Given the description of an element on the screen output the (x, y) to click on. 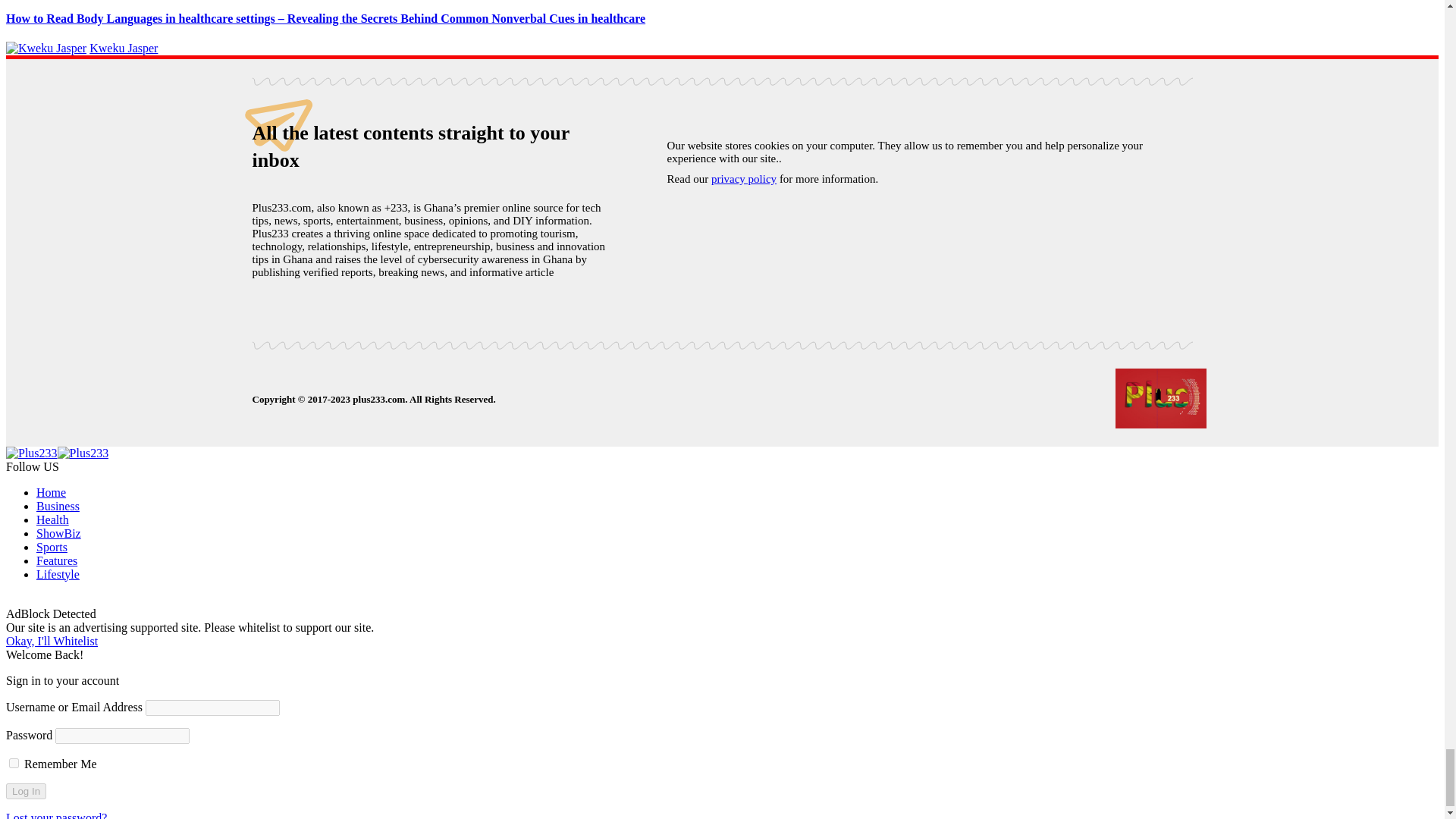
Log In (25, 790)
forever (13, 763)
Plus233 (56, 452)
